Given the description of an element on the screen output the (x, y) to click on. 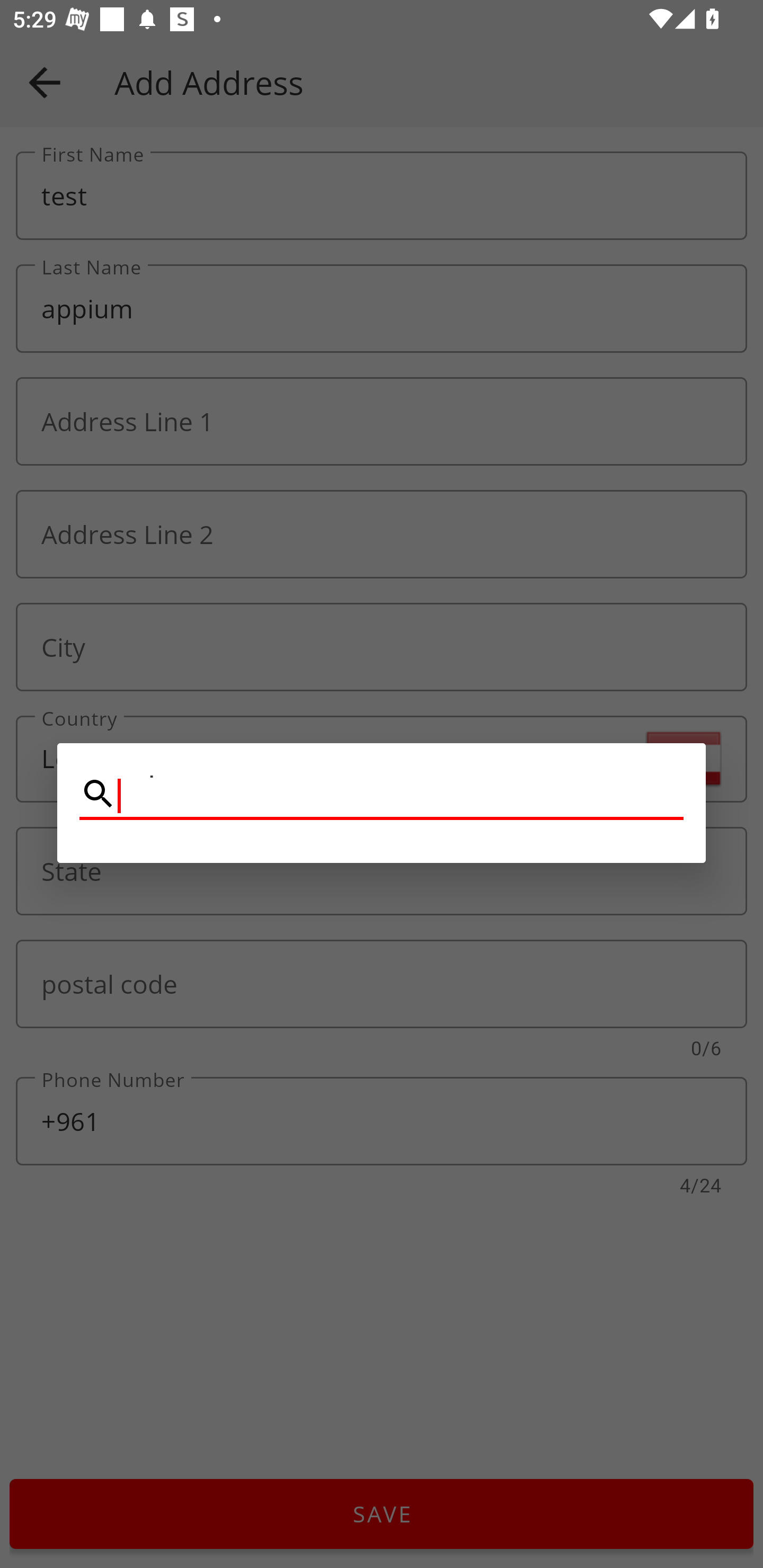
cup
 (381, 794)
